Given the description of an element on the screen output the (x, y) to click on. 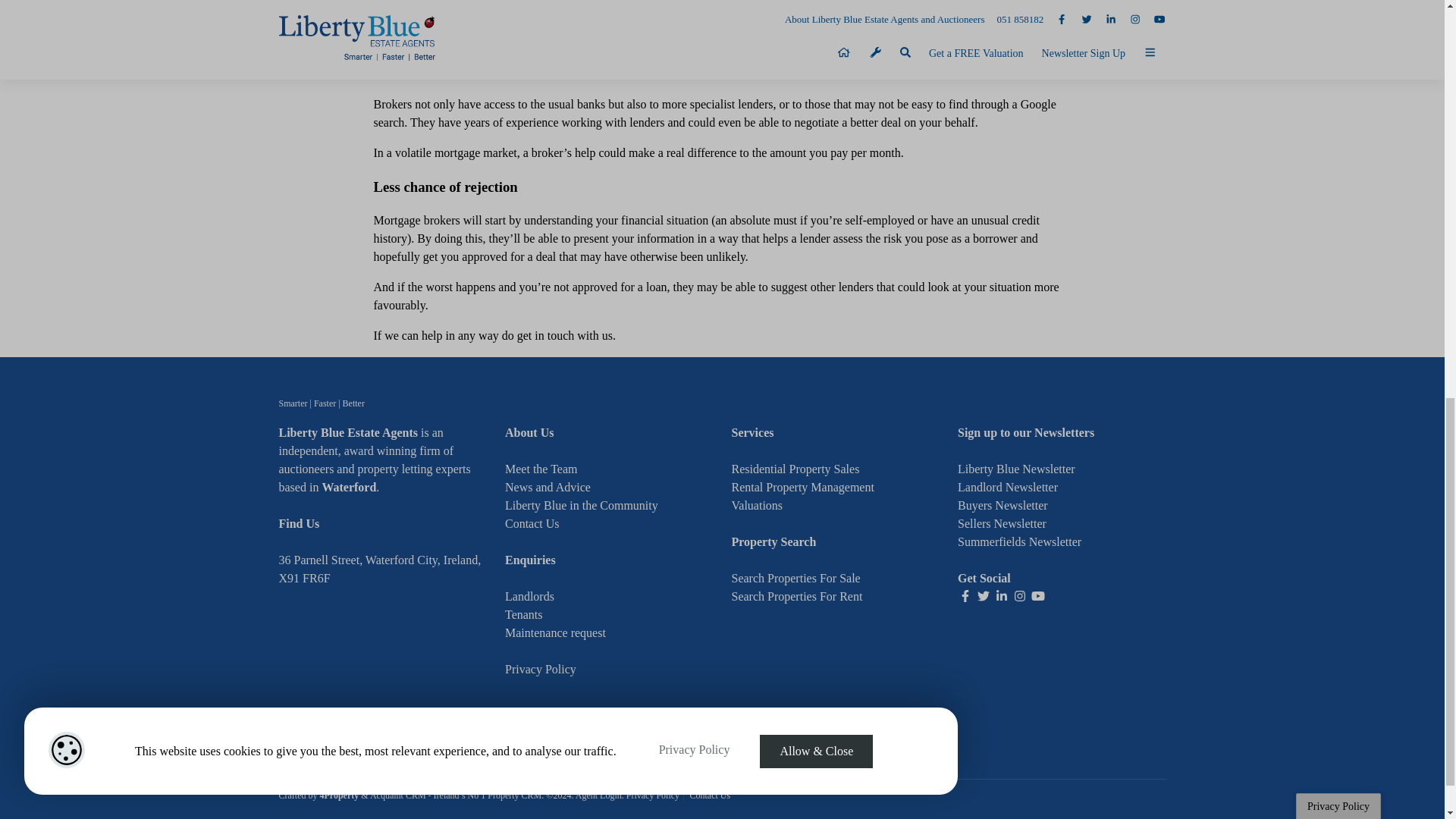
Meet the Team (540, 468)
36 Parnell Street, Waterford City, Ireland, X91 FR6F (380, 568)
get in touch with us. (565, 335)
Maintenance request (555, 632)
Tenants (524, 614)
Landlords (529, 595)
Google Maps (383, 681)
Contact Us (532, 522)
News and Advice (548, 486)
Liberty Blue in the Community (581, 504)
